Given the description of an element on the screen output the (x, y) to click on. 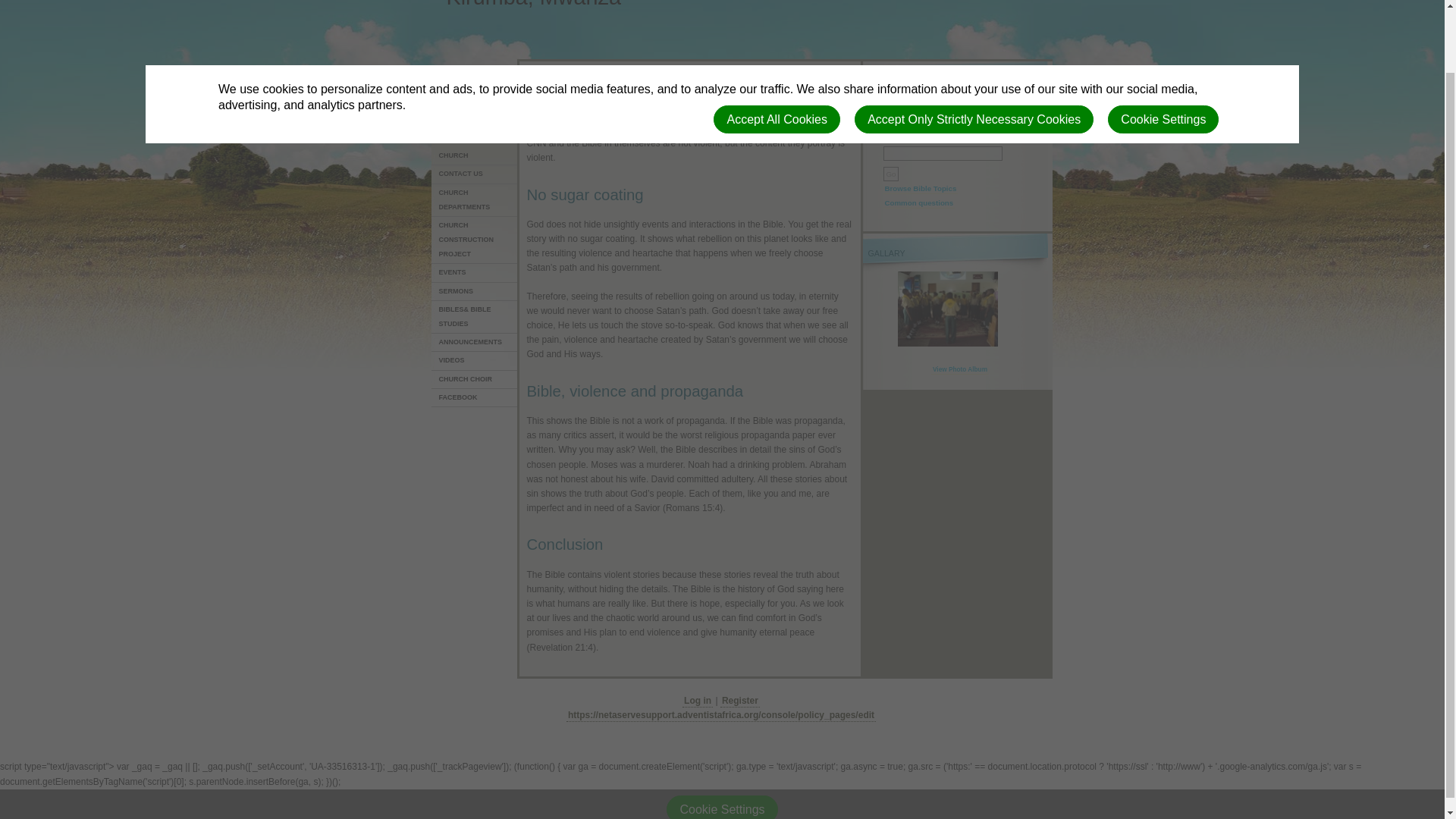
ABOUT US (474, 123)
LEADERS OF THE CHURCH (474, 148)
Go (890, 173)
View Photo Album (959, 369)
OTHER LINKS (474, 105)
EVENTS (474, 272)
CHURCH CHOIR (474, 380)
Common questions (918, 203)
Log in (697, 700)
ANNOUNCEMENTS (474, 342)
Accept All Cookies (776, 49)
Go (890, 173)
Register (740, 700)
SERMONS (474, 291)
